Given the description of an element on the screen output the (x, y) to click on. 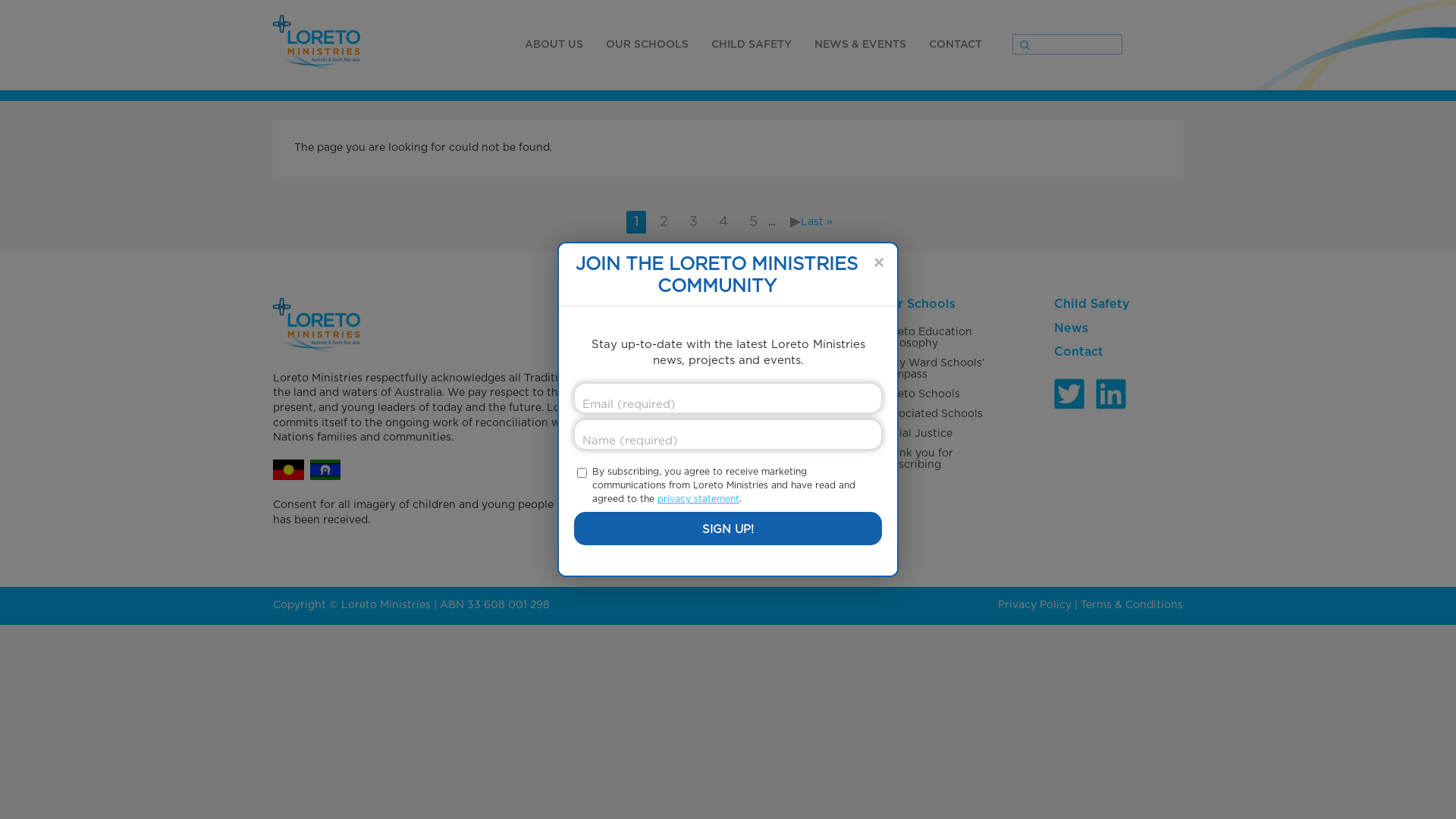
Close this box Element type: hover (878, 261)
About Us Element type: text (769, 304)
Meet the Team Element type: text (769, 422)
Privacy Policy Element type: text (1034, 604)
Loreto Schools Element type: text (943, 394)
4 Element type: text (723, 221)
Social Justice Element type: text (943, 433)
5 Element type: text (753, 221)
CHILD SAFETY Element type: text (751, 44)
3 Element type: text (693, 221)
Associated Schools Element type: text (943, 414)
OUR SCHOOLS Element type: text (646, 44)
CONTACT Element type: text (955, 44)
Terms & Conditions Element type: text (1131, 604)
  Element type: text (795, 221)
Contact Element type: text (1118, 352)
Loreto Education Philosophy Element type: text (943, 338)
Child Safety Element type: text (1118, 304)
Governance Element type: text (769, 351)
2 Element type: text (663, 221)
Loreto Ministries Element type: text (769, 332)
NEWS & EVENTS Element type: text (860, 44)
ABOUT US Element type: text (553, 44)
News Element type: text (1118, 328)
Thank you for subscribing Element type: text (943, 459)
Formation Element type: text (769, 371)
Policy & Guiding Documents Element type: text (769, 396)
Our Schools Element type: text (943, 304)
